Given the description of an element on the screen output the (x, y) to click on. 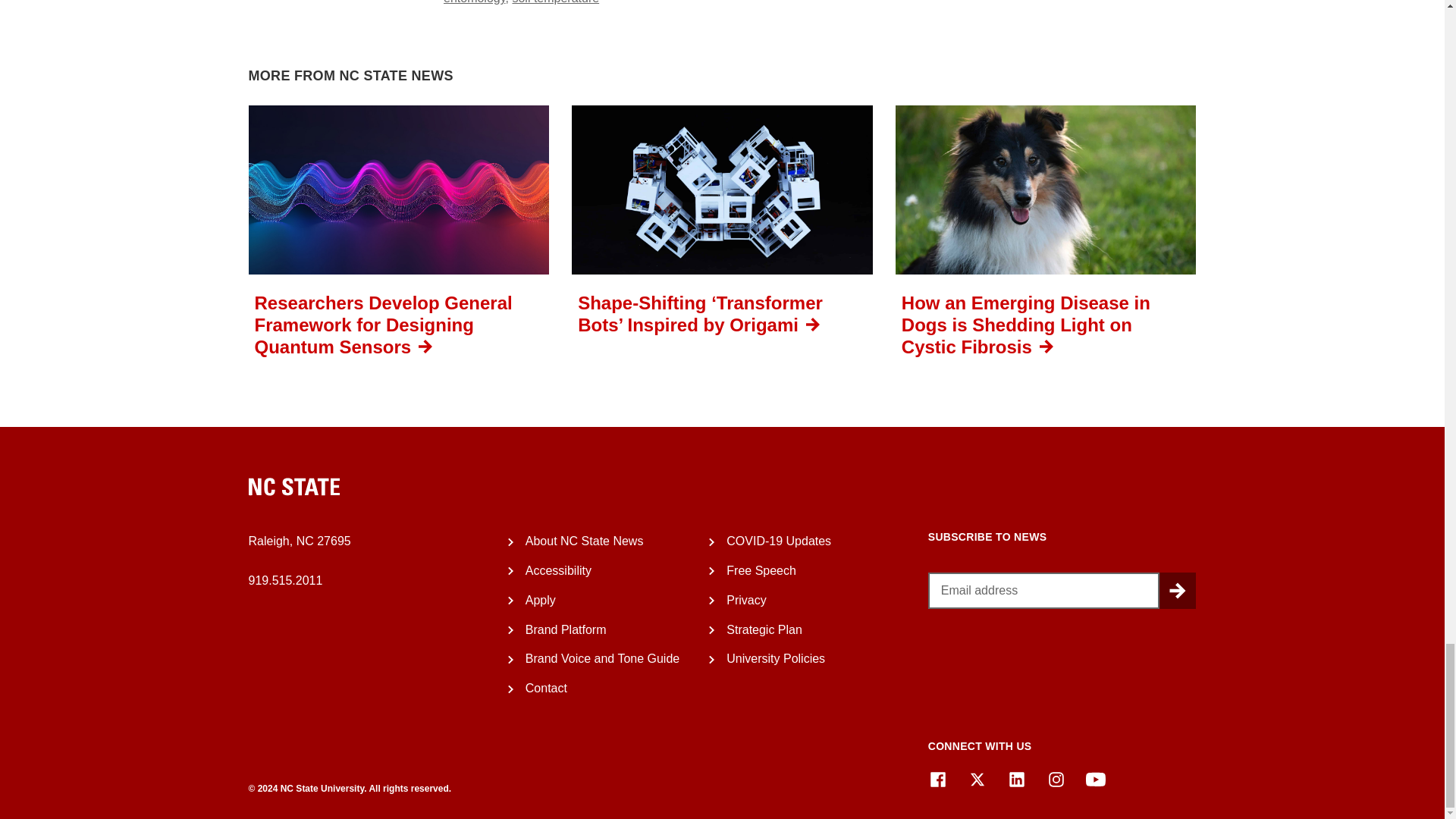
Facebook (937, 779)
YouTube (1095, 779)
X (977, 779)
Instagram (1055, 779)
LinkedIn (1016, 779)
